Given the description of an element on the screen output the (x, y) to click on. 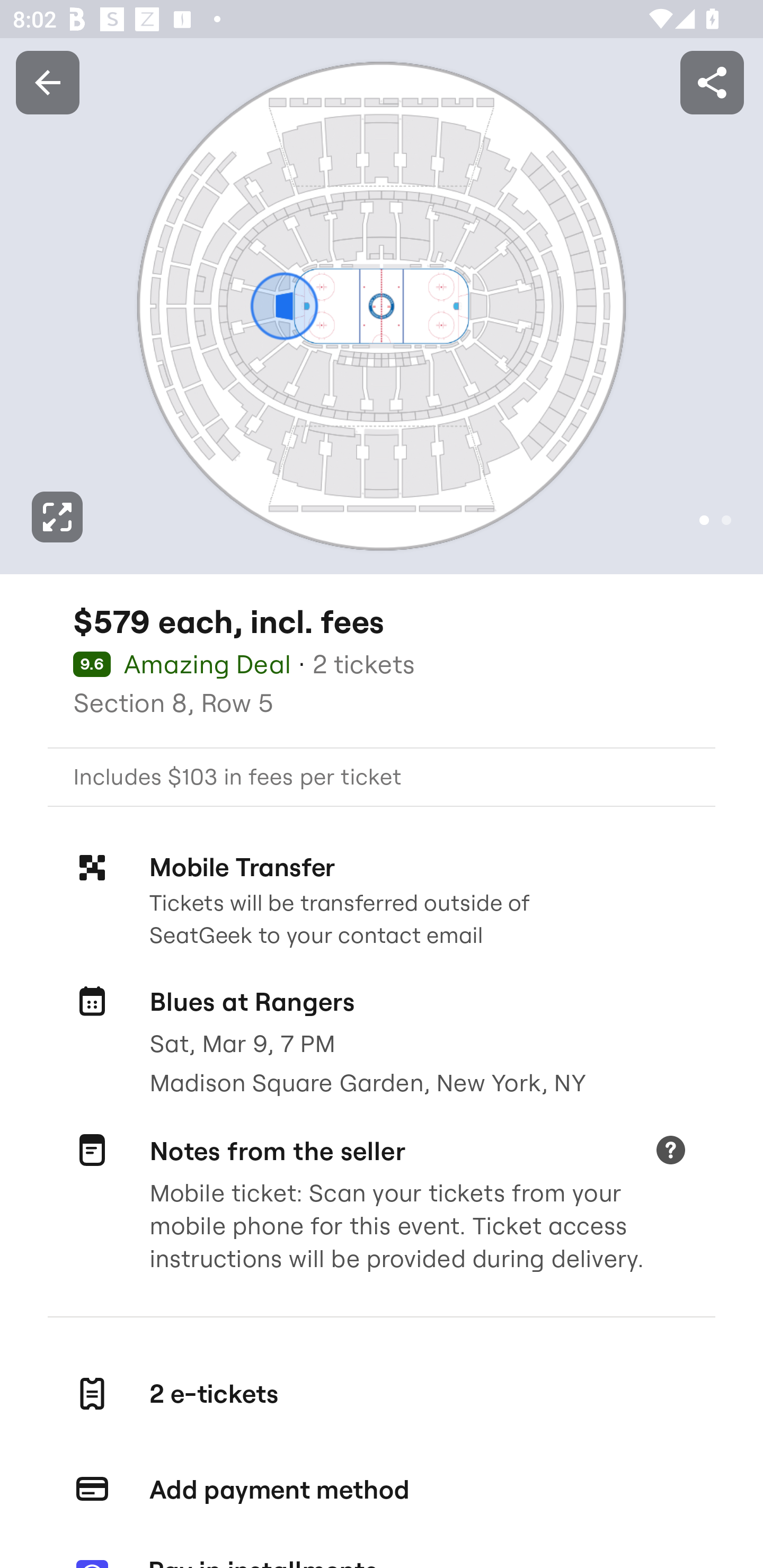
Back (47, 81)
Share (711, 81)
Expand image to fullscreen (57, 517)
Learn more (670, 1151)
2 e-tickets (381, 1393)
Add payment method (381, 1490)
